Given the description of an element on the screen output the (x, y) to click on. 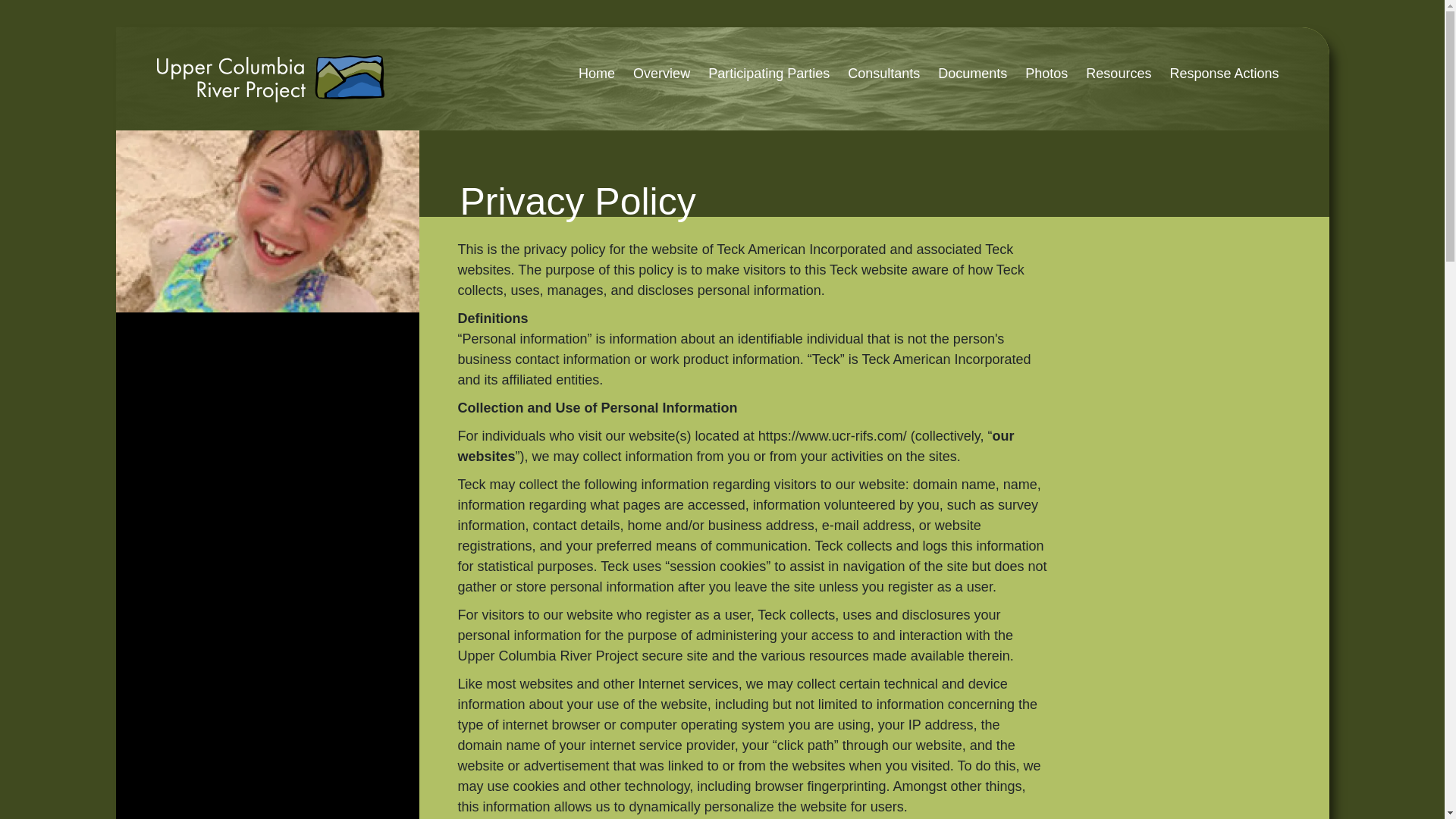
Documents (972, 73)
Participating Parties (768, 73)
Consultants (883, 73)
Home (596, 73)
Overview (661, 73)
Photos (1046, 73)
Resources (1118, 73)
Response Actions (1223, 73)
